Given the description of an element on the screen output the (x, y) to click on. 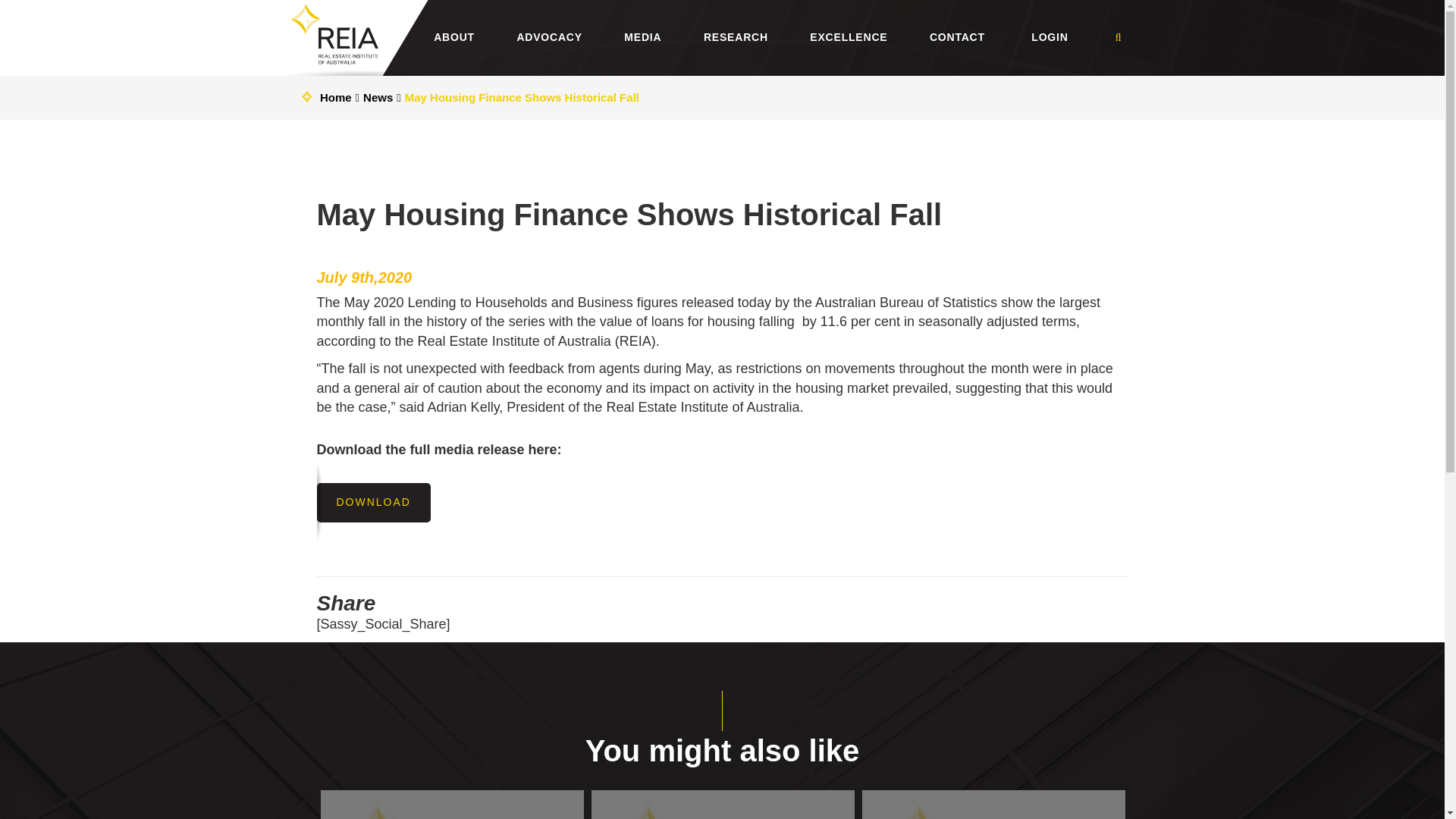
RESEARCH (735, 34)
ADVOCACY (549, 34)
MEDIA (642, 34)
CONTACT (957, 34)
ABOUT (453, 34)
EXCELLENCE (847, 34)
